Given the description of an element on the screen output the (x, y) to click on. 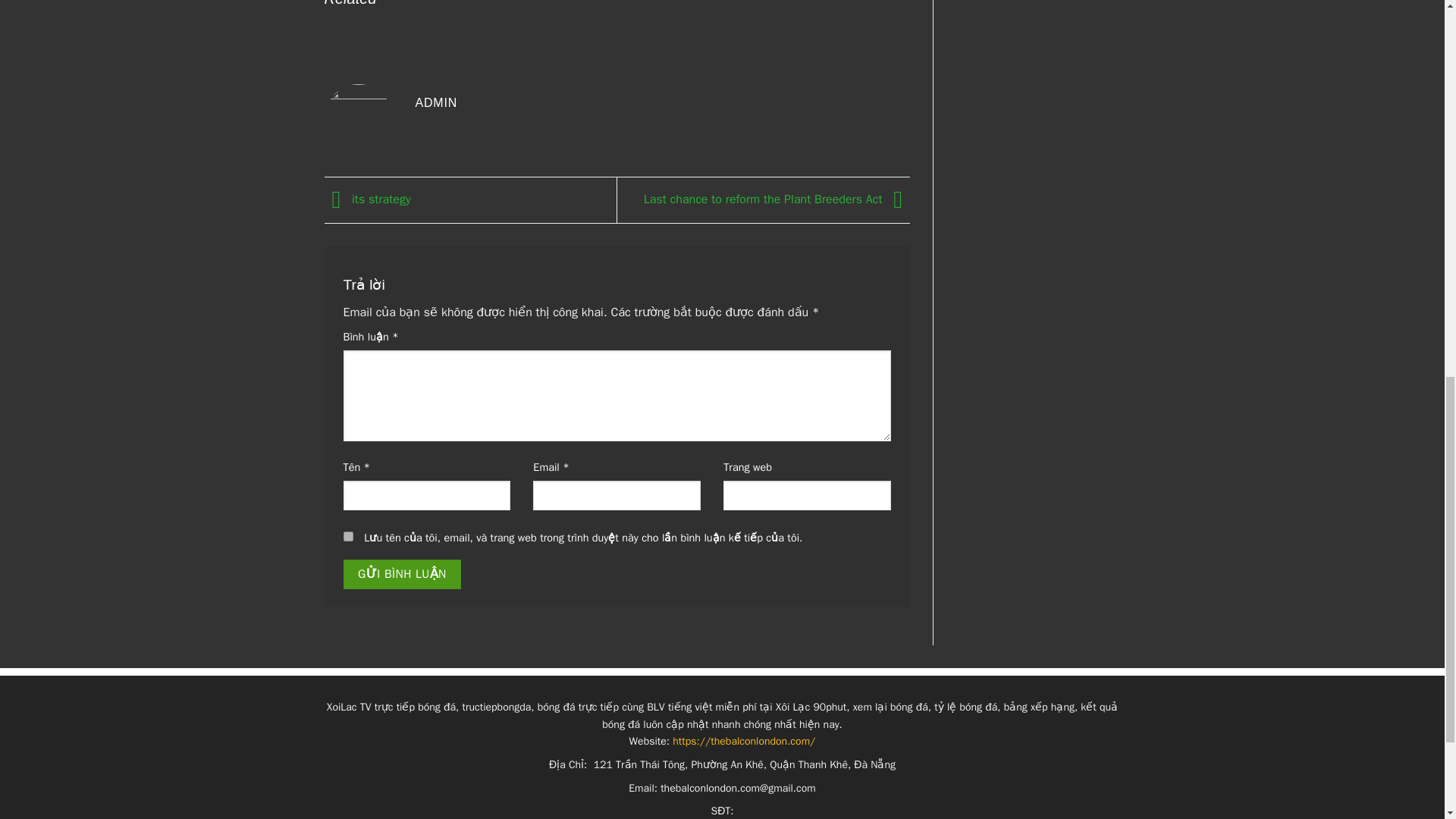
yes (347, 536)
Last chance to reform the Plant Breeders Act (776, 199)
its strategy (367, 199)
